Given the description of an element on the screen output the (x, y) to click on. 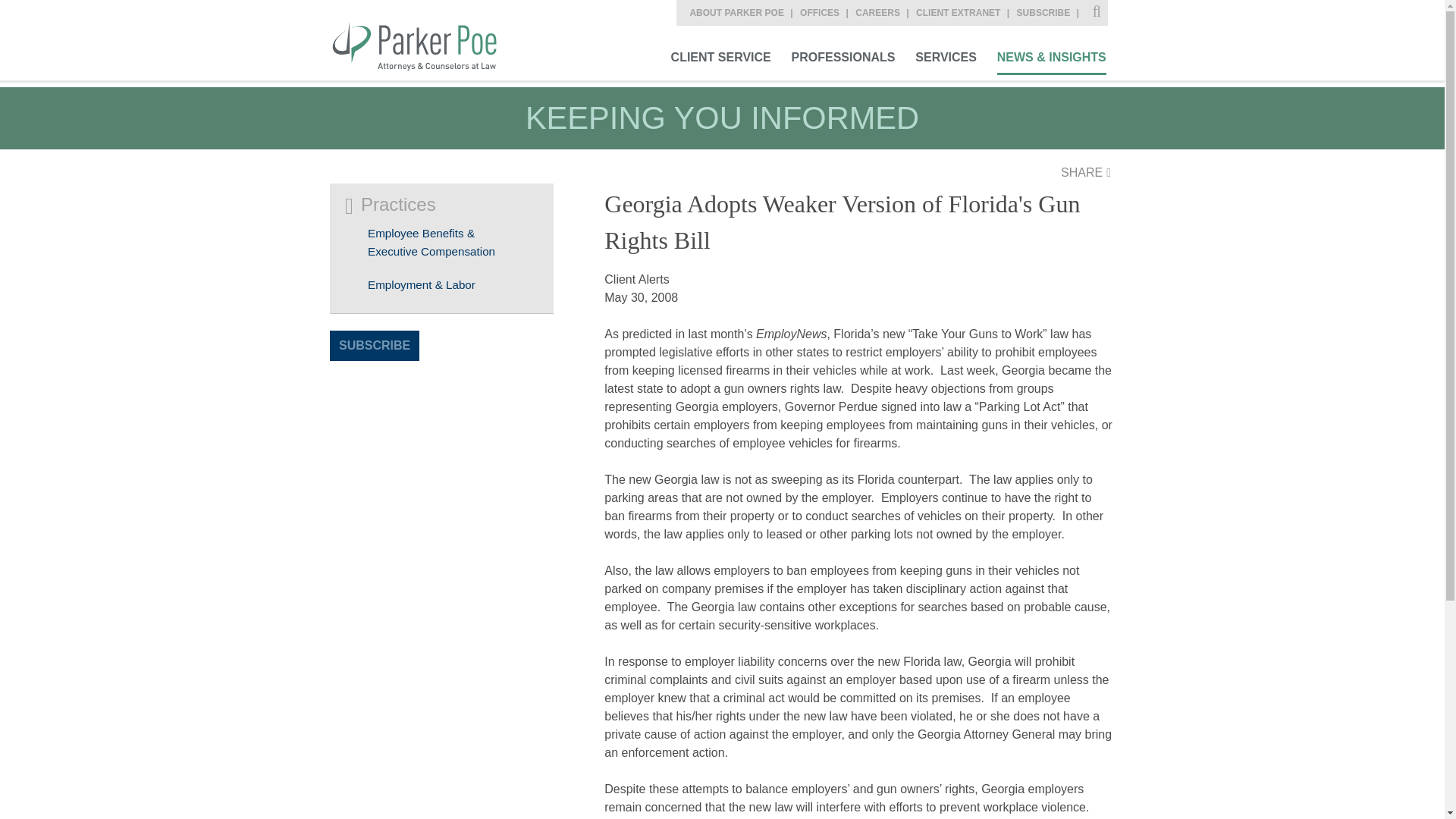
CAREERS (884, 12)
CLIENT EXTRANET (964, 12)
ABOUT PARKER POE (742, 12)
SUBSCRIBE (1049, 12)
PROFESSIONALS (843, 59)
Parker Poe (424, 39)
Parker Poe (424, 39)
CLIENT SERVICE (720, 59)
SUBSCRIBE (374, 345)
SERVICES (946, 59)
OFFICES (825, 12)
